Given the description of an element on the screen output the (x, y) to click on. 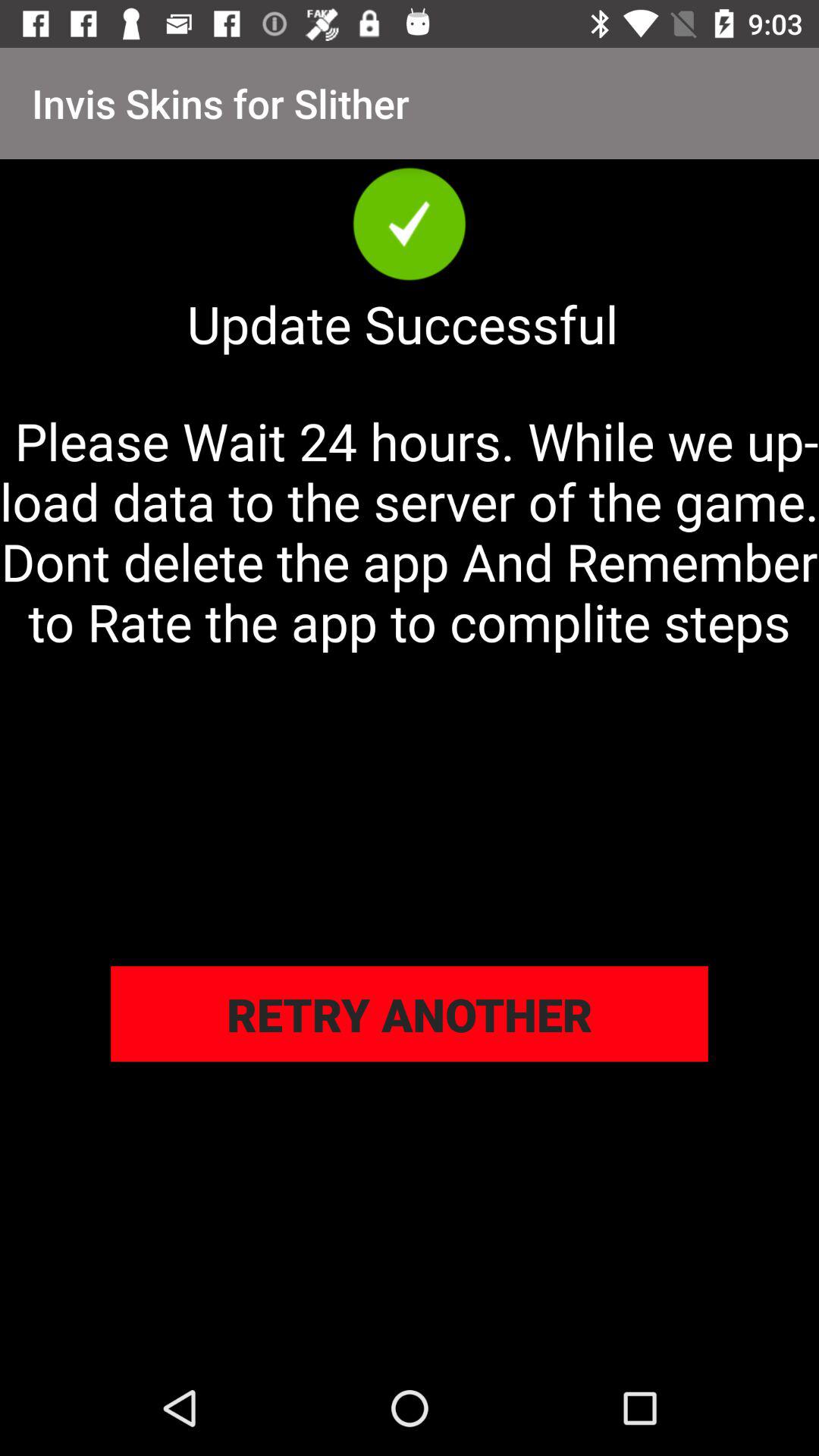
jump to the retry another item (409, 1013)
